Given the description of an element on the screen output the (x, y) to click on. 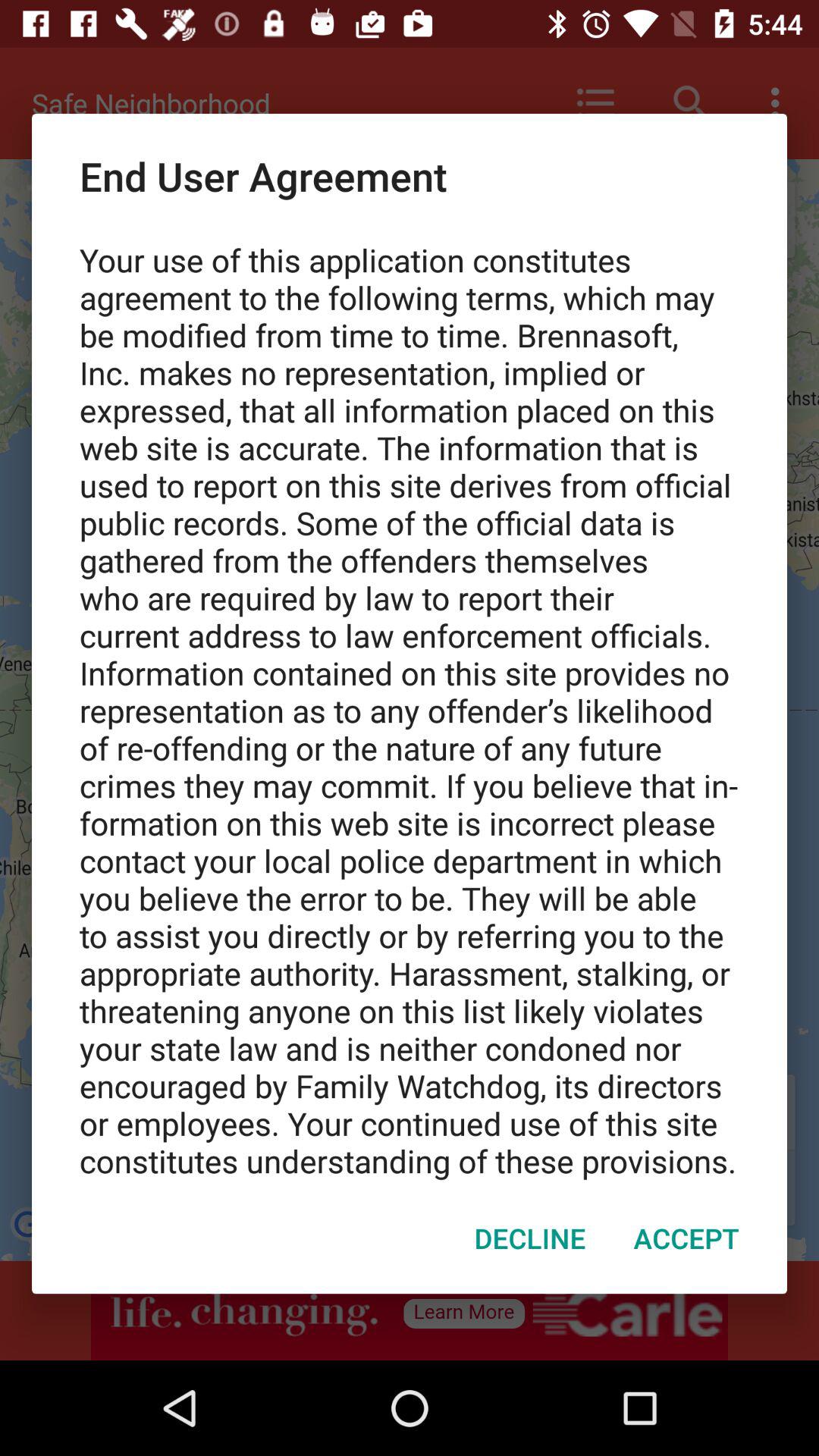
press decline item (529, 1237)
